Given the description of an element on the screen output the (x, y) to click on. 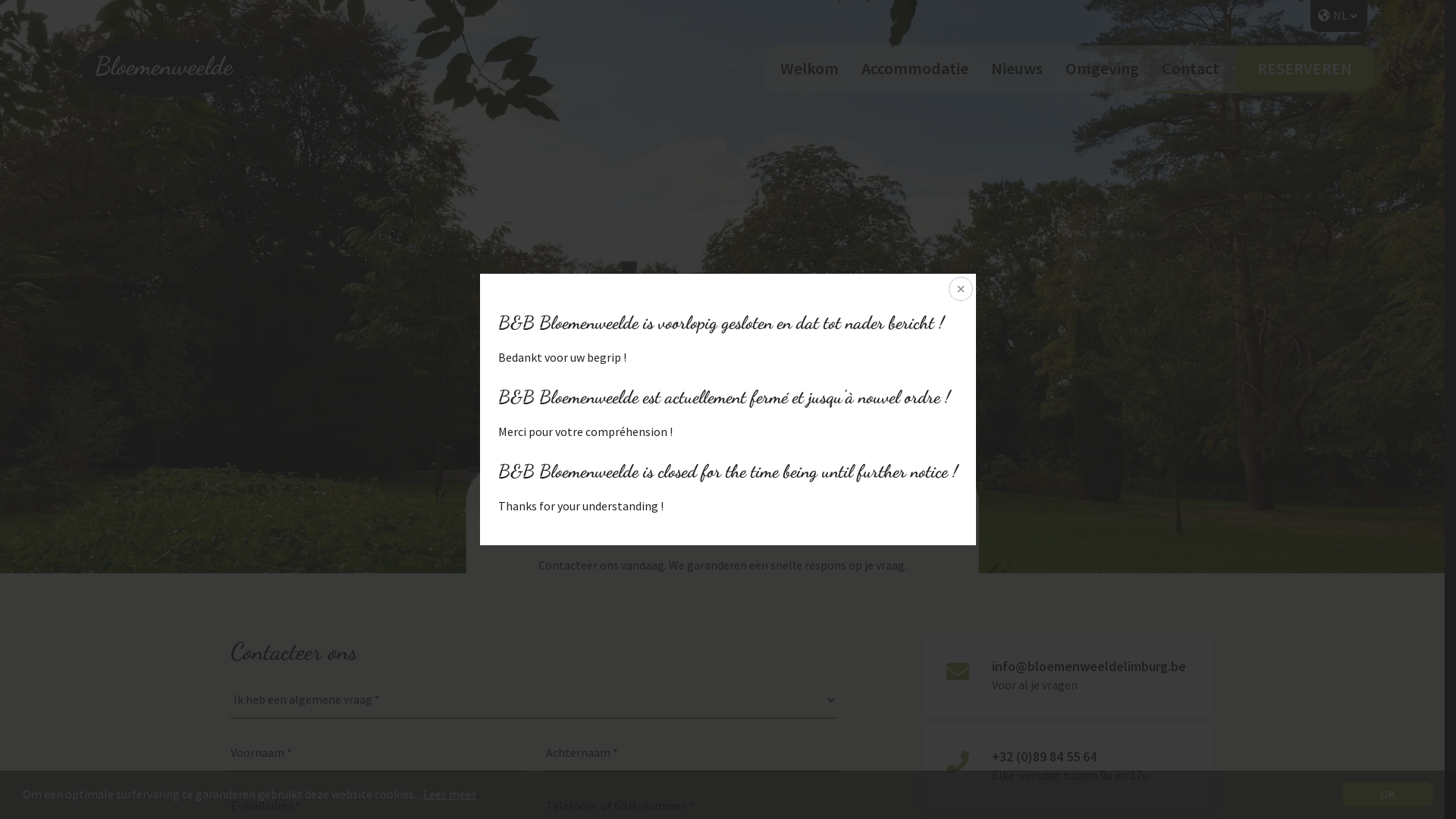
info@bloemenweeldelimburg.be
Voor al je vragen Element type: text (1068, 674)
Accommodatie Element type: text (914, 68)
Contact Element type: text (1190, 68)
Omgeving Element type: text (1101, 68)
+32 (0)89 84 55 64
Elke werkdag tussen 9u en 17u Element type: text (1068, 765)
Welkom Element type: text (808, 68)
OK Element type: text (1387, 794)
Lees meer Element type: text (449, 793)
Close Element type: hover (958, 290)
Nieuws Element type: text (1015, 68)
Naar de homepagina Element type: hover (160, 68)
RESERVEREN Element type: text (1304, 68)
